Given the description of an element on the screen output the (x, y) to click on. 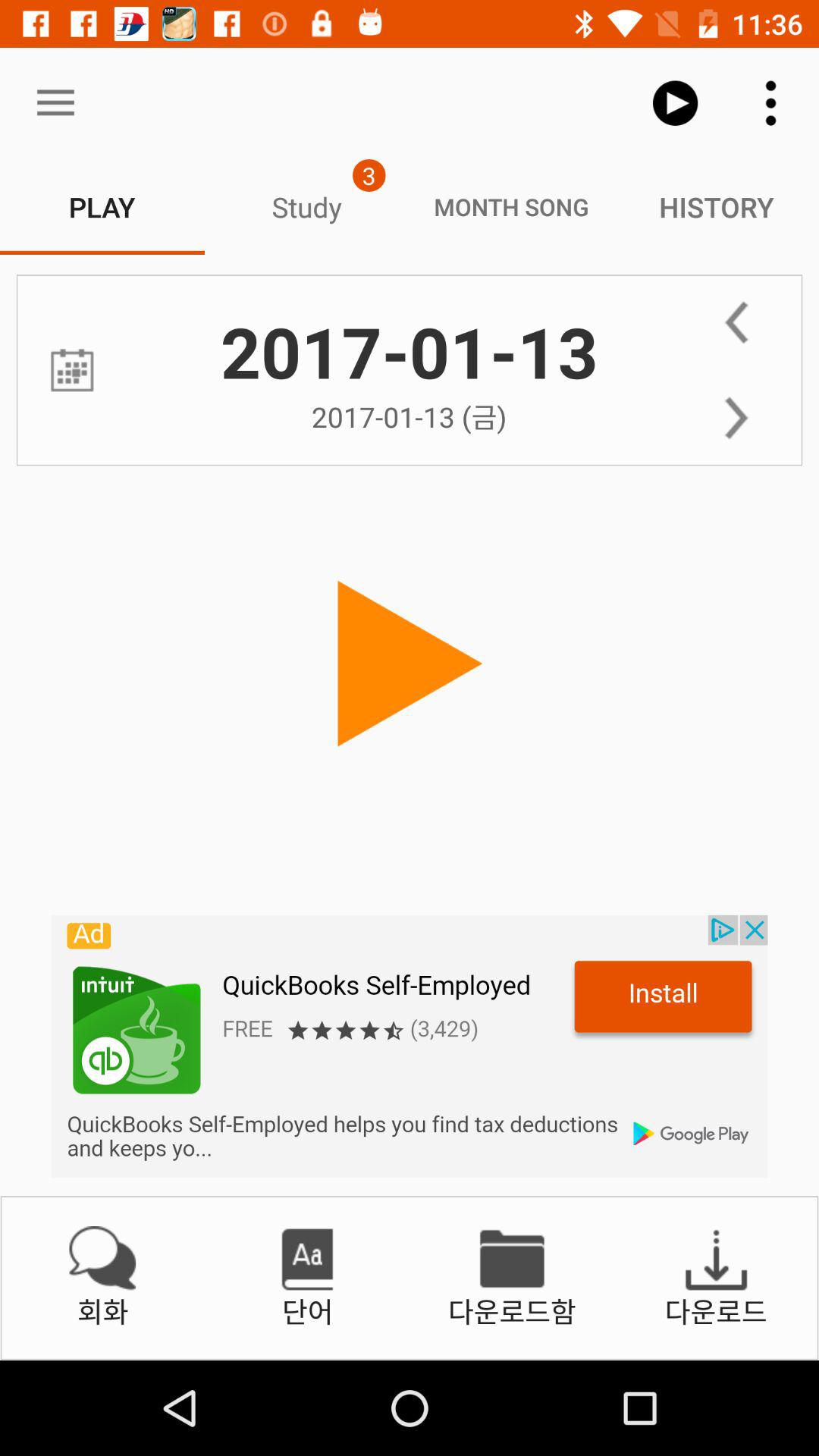
go to next day (736, 417)
